Given the description of an element on the screen output the (x, y) to click on. 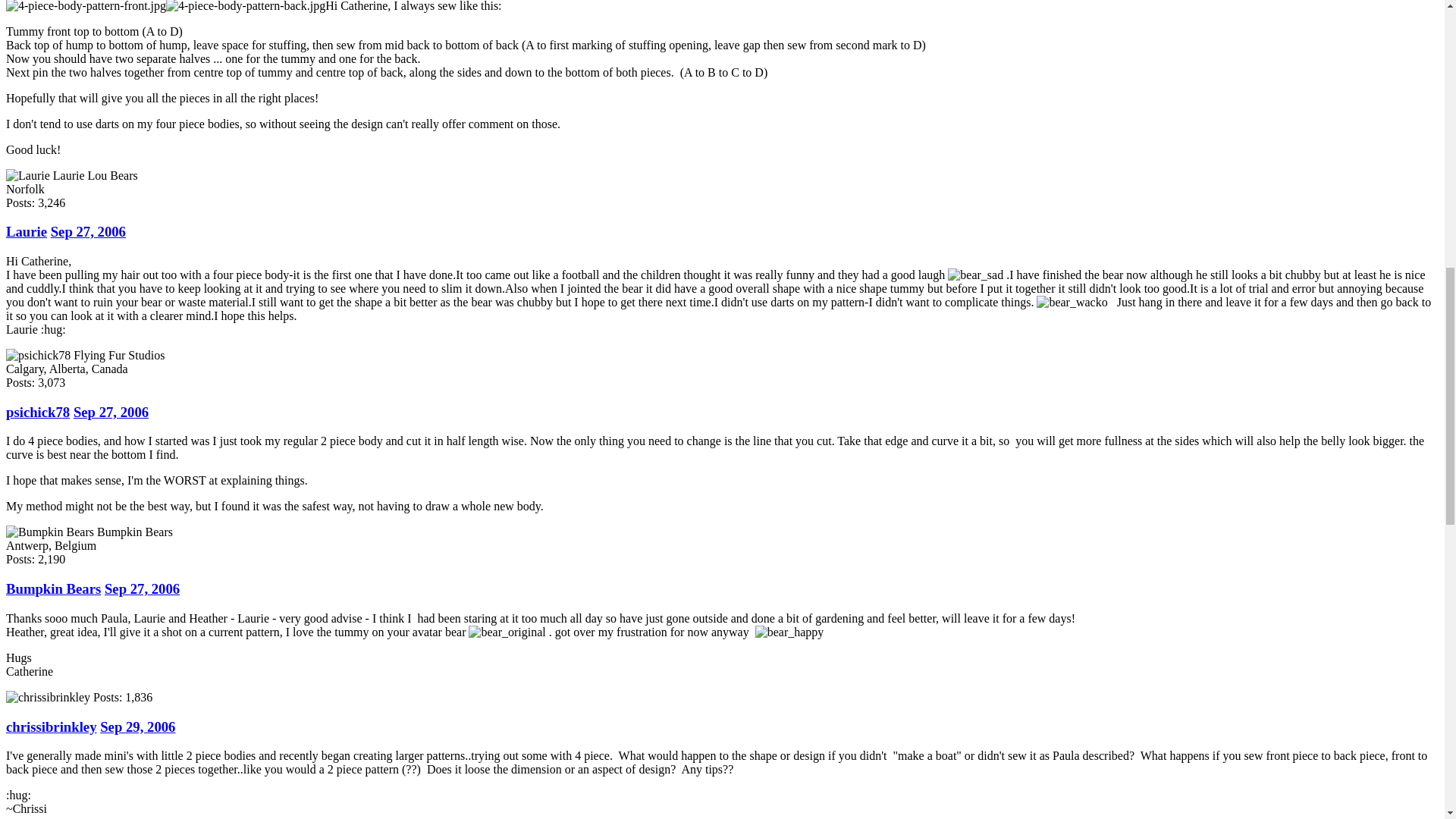
chrissibrinkley (47, 697)
Laurie Wicks (27, 174)
Heather Wing (37, 354)
Catherine Young (49, 531)
Sep 27, 2006 (87, 231)
Sep 27, 2006 (111, 412)
psichick78 (37, 412)
Laurie (25, 231)
